Given the description of an element on the screen output the (x, y) to click on. 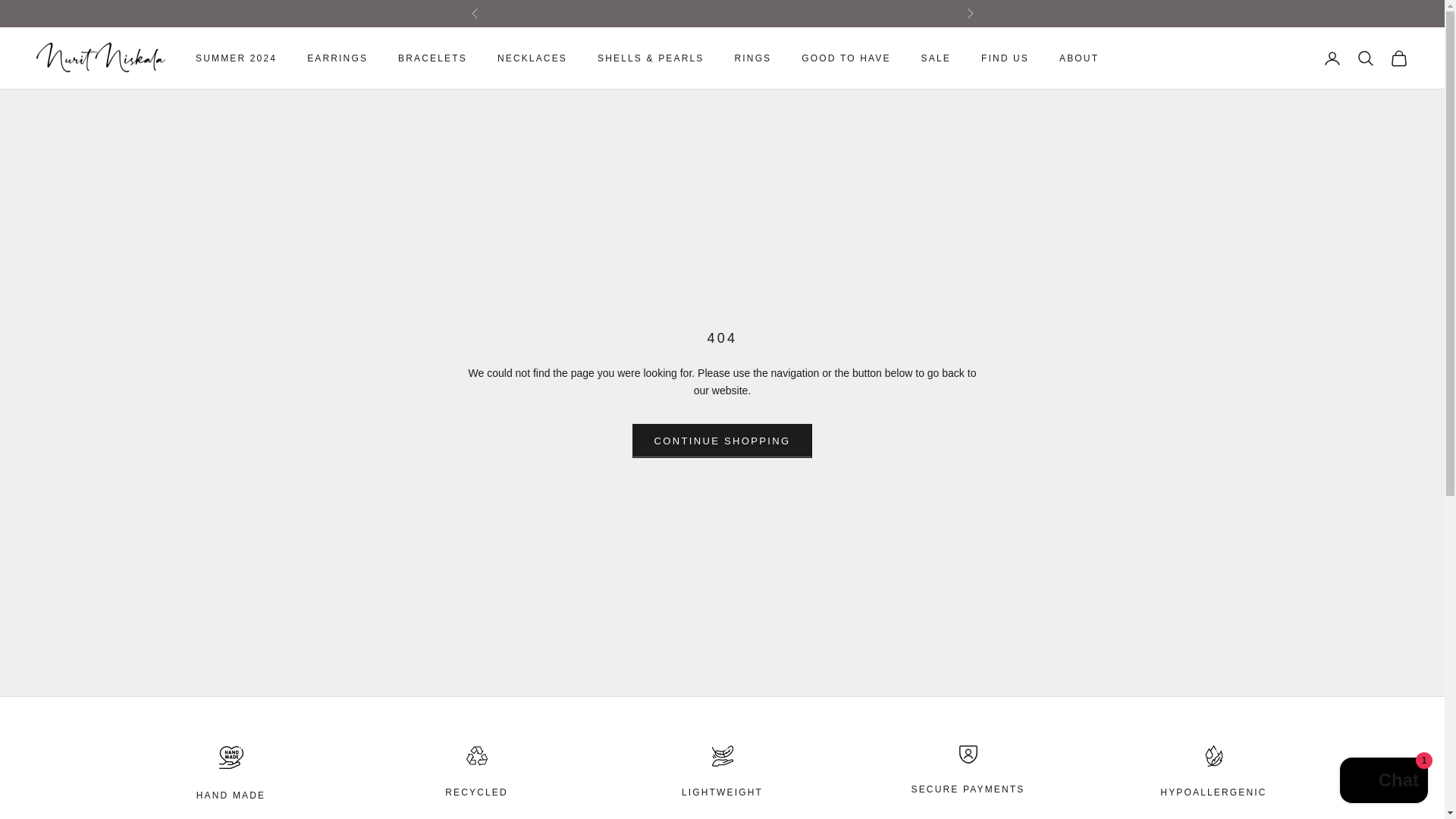
Open search (1365, 58)
Nurit Niskala Metal Jewelry Designer USA (100, 58)
GOOD TO HAVE (845, 58)
Open cart (1398, 58)
RINGS (752, 58)
Open account page (1331, 58)
Shopify online store chat (1383, 781)
SUMMER 2024 (235, 58)
SALE (935, 58)
FIND US (1005, 58)
